Given the description of an element on the screen output the (x, y) to click on. 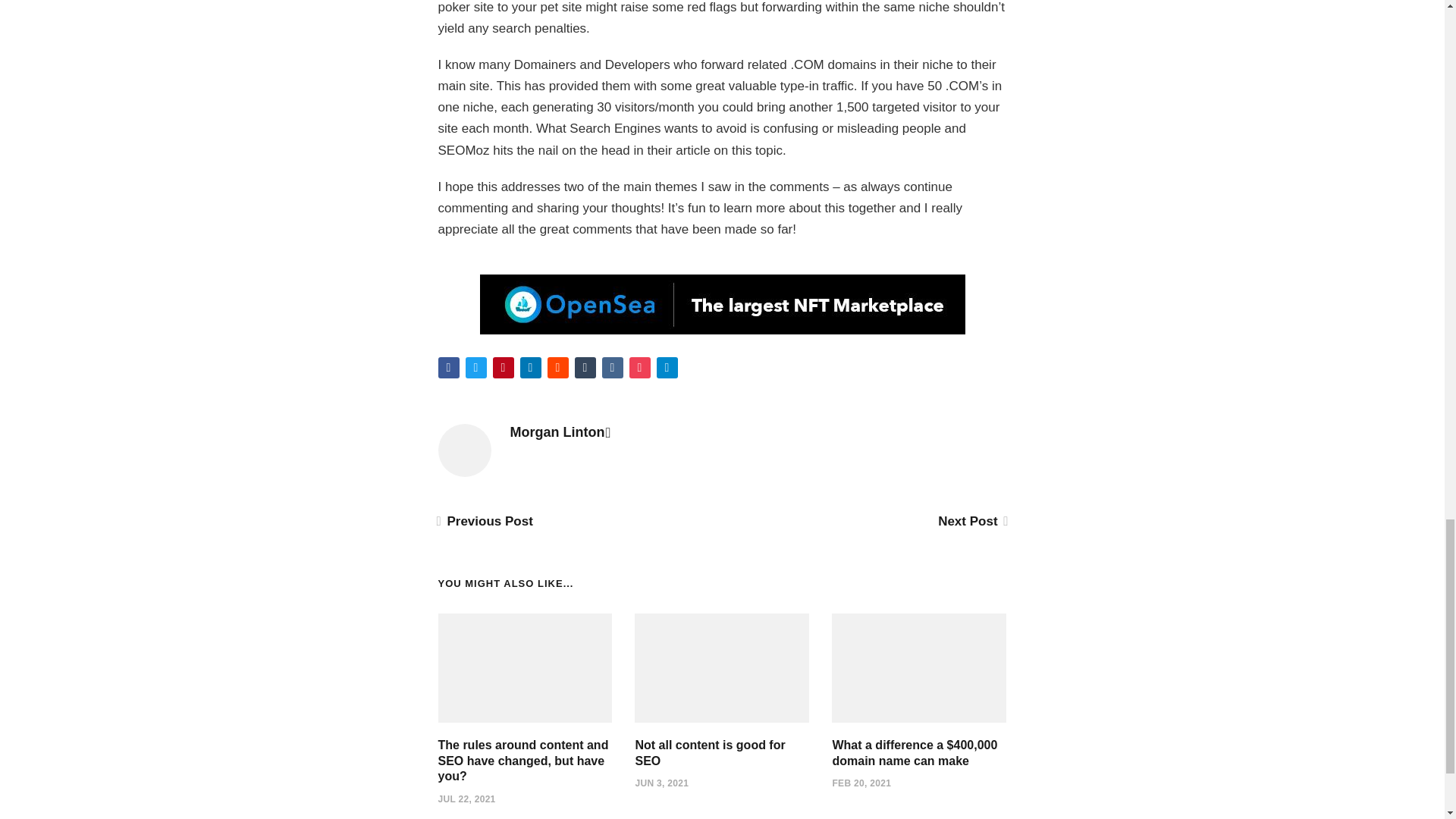
The rules around content and SEO have changed, but have you? (523, 760)
Next Post (971, 521)
Previous Post (485, 521)
Not all content is good for SEO (709, 752)
